Given the description of an element on the screen output the (x, y) to click on. 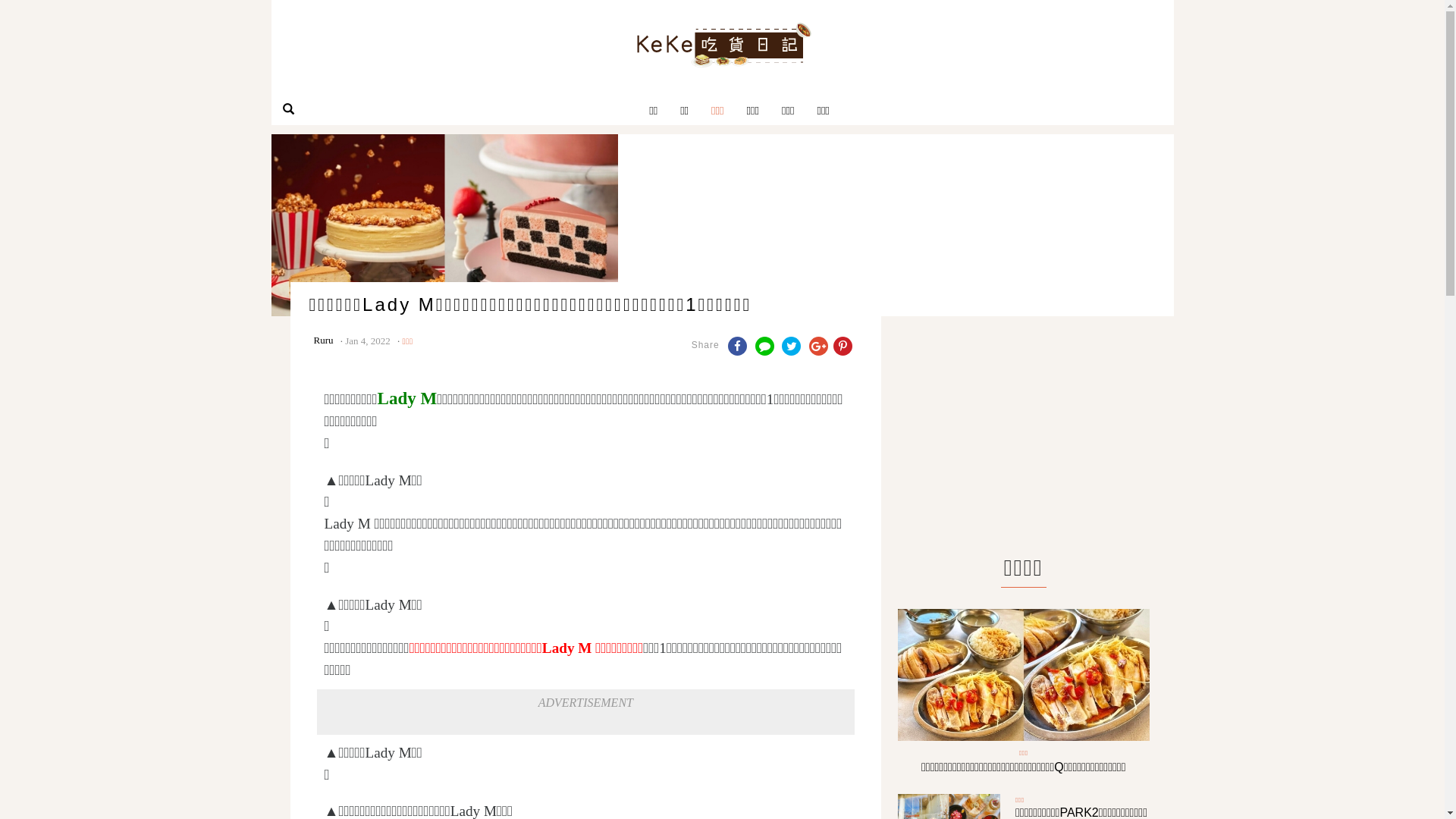
Advertisement Element type: hover (1023, 433)
